Given the description of an element on the screen output the (x, y) to click on. 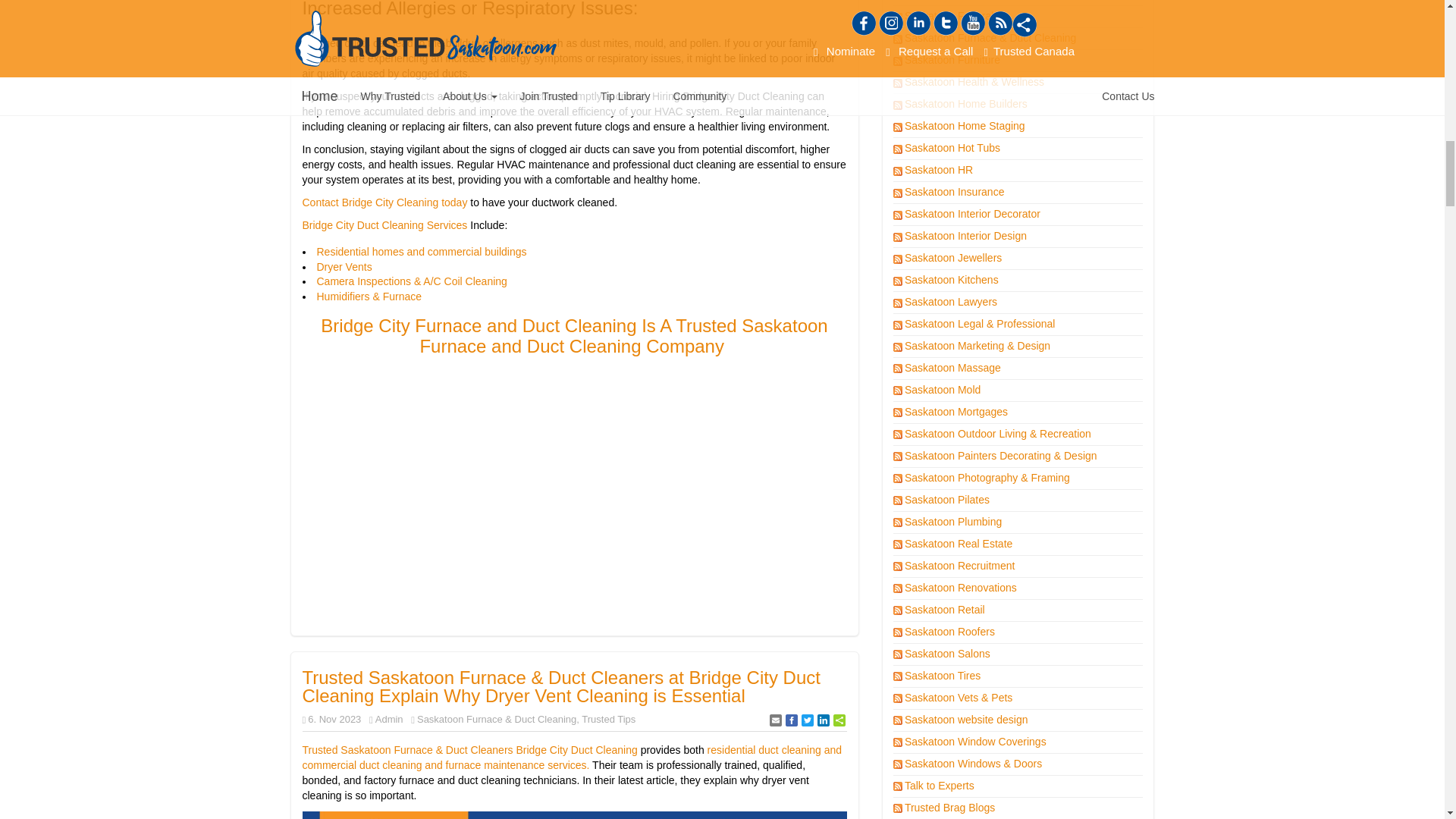
Contact Bridge City Cleaning today  (385, 202)
YouTube video player (574, 499)
Dryer Vents  (346, 266)
Admin (389, 718)
Residential homes and commercial buildings (422, 251)
Bridge City Duct Cleaning Services (384, 224)
